Given the description of an element on the screen output the (x, y) to click on. 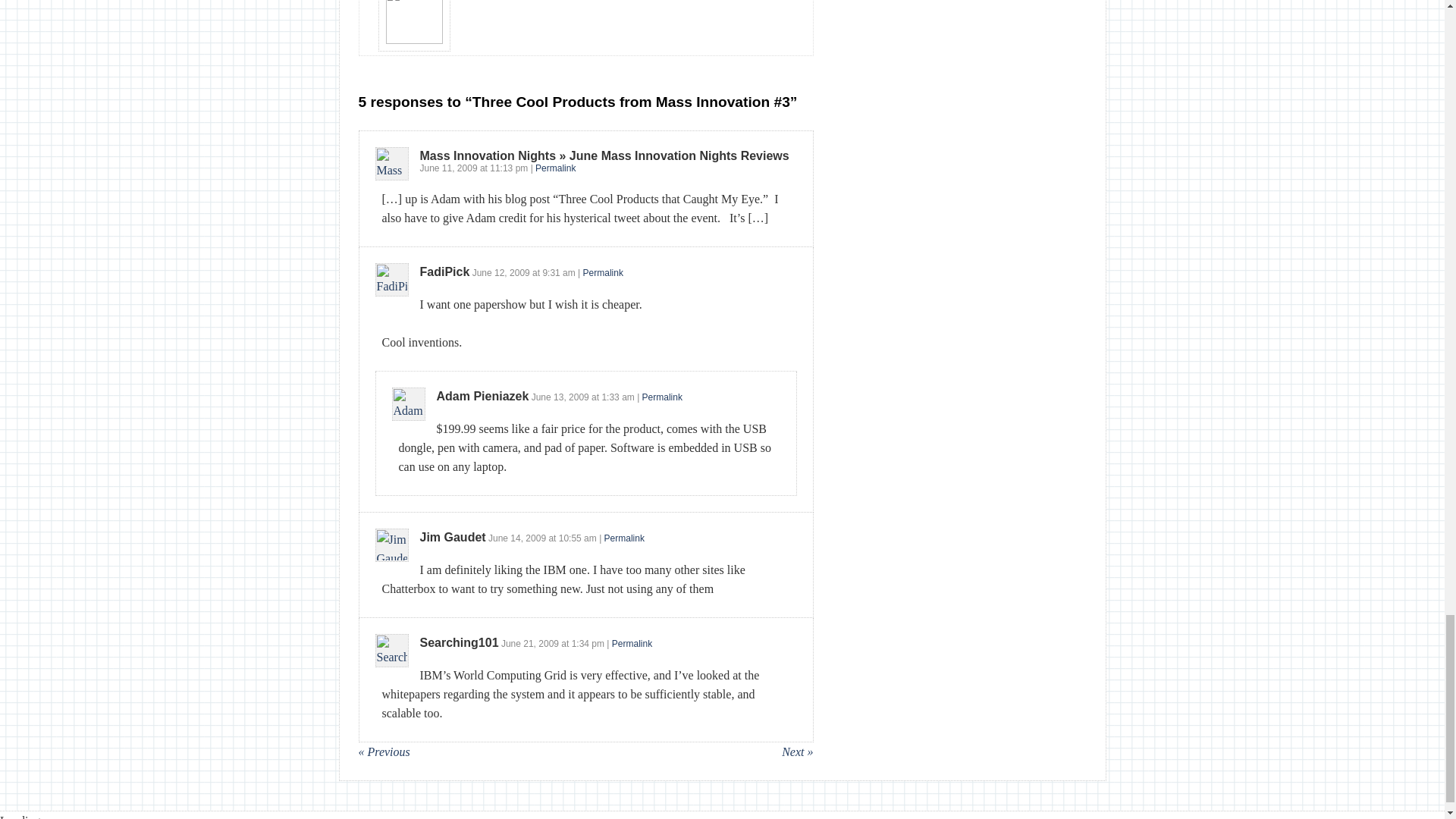
Permalink (603, 272)
Permalink (555, 167)
Thursday, June 11th, 2009, 11:13 pm (508, 167)
Jim Gaudet (453, 536)
FadiPick (445, 271)
Permalink (624, 538)
Thursday, June 11th, 2009, 11:13 pm (448, 167)
Adam Pieniazek (482, 395)
Permalink to comment 30773 (555, 167)
Permalink (662, 397)
